Given the description of an element on the screen output the (x, y) to click on. 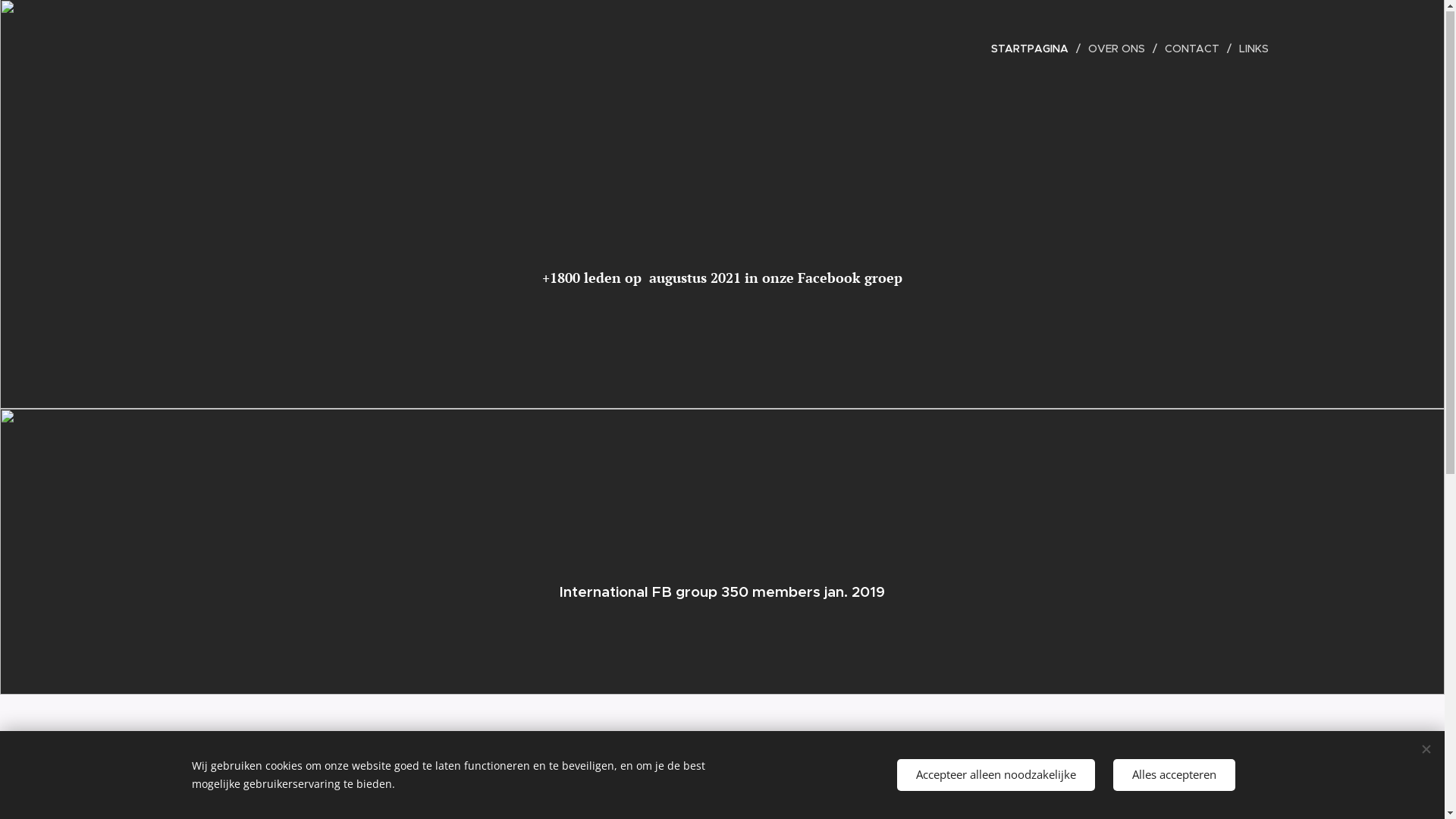
LINKS Element type: text (1249, 49)
Accepteer alleen noodzakelijke Element type: text (995, 774)
Alles accepteren Element type: text (1174, 774)
OVER ONS Element type: text (1117, 49)
STARTPAGINA Element type: text (1033, 49)
CONTACT Element type: text (1194, 49)
